Given the description of an element on the screen output the (x, y) to click on. 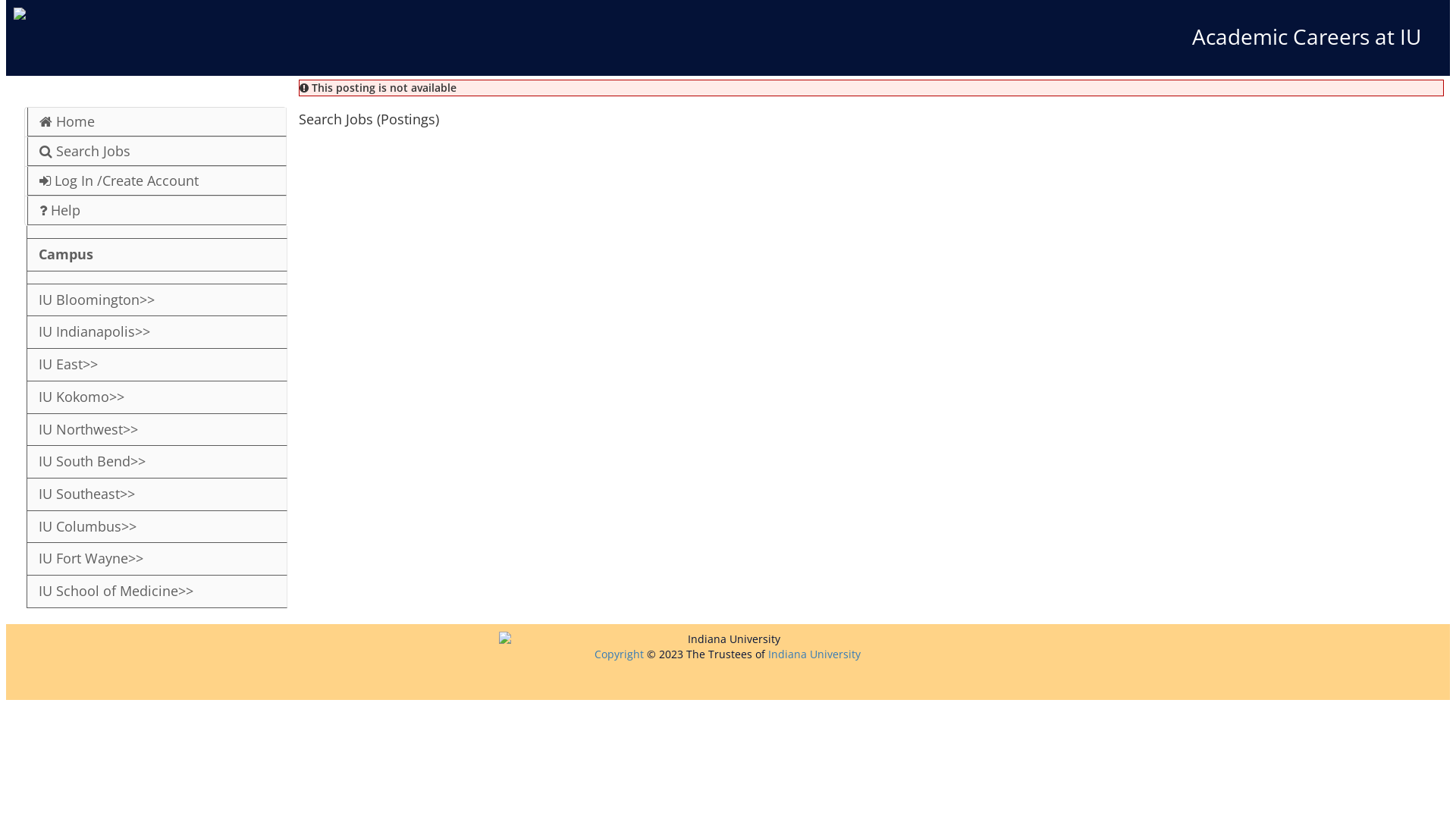
IU South Bend>> Element type: text (156, 461)
Campus Element type: text (156, 254)
Home Element type: hover (183, 13)
Help Element type: text (156, 210)
IU Indianapolis>> Element type: text (156, 332)
IU Kokomo>> Element type: text (156, 397)
Search Jobs Element type: text (156, 151)
Log In /Create Account Element type: text (156, 180)
IU Southeast>> Element type: text (156, 494)
Home Element type: text (156, 121)
Indiana University Element type: text (814, 653)
IU Bloomington>> Element type: text (156, 300)
IU Fort Wayne>> Element type: text (156, 558)
IU Columbus>> Element type: text (156, 527)
IU East>> Element type: text (156, 364)
IU School of Medicine>> Element type: text (156, 591)
IU Northwest>> Element type: text (156, 430)
Copyright Element type: text (618, 653)
